Given the description of an element on the screen output the (x, y) to click on. 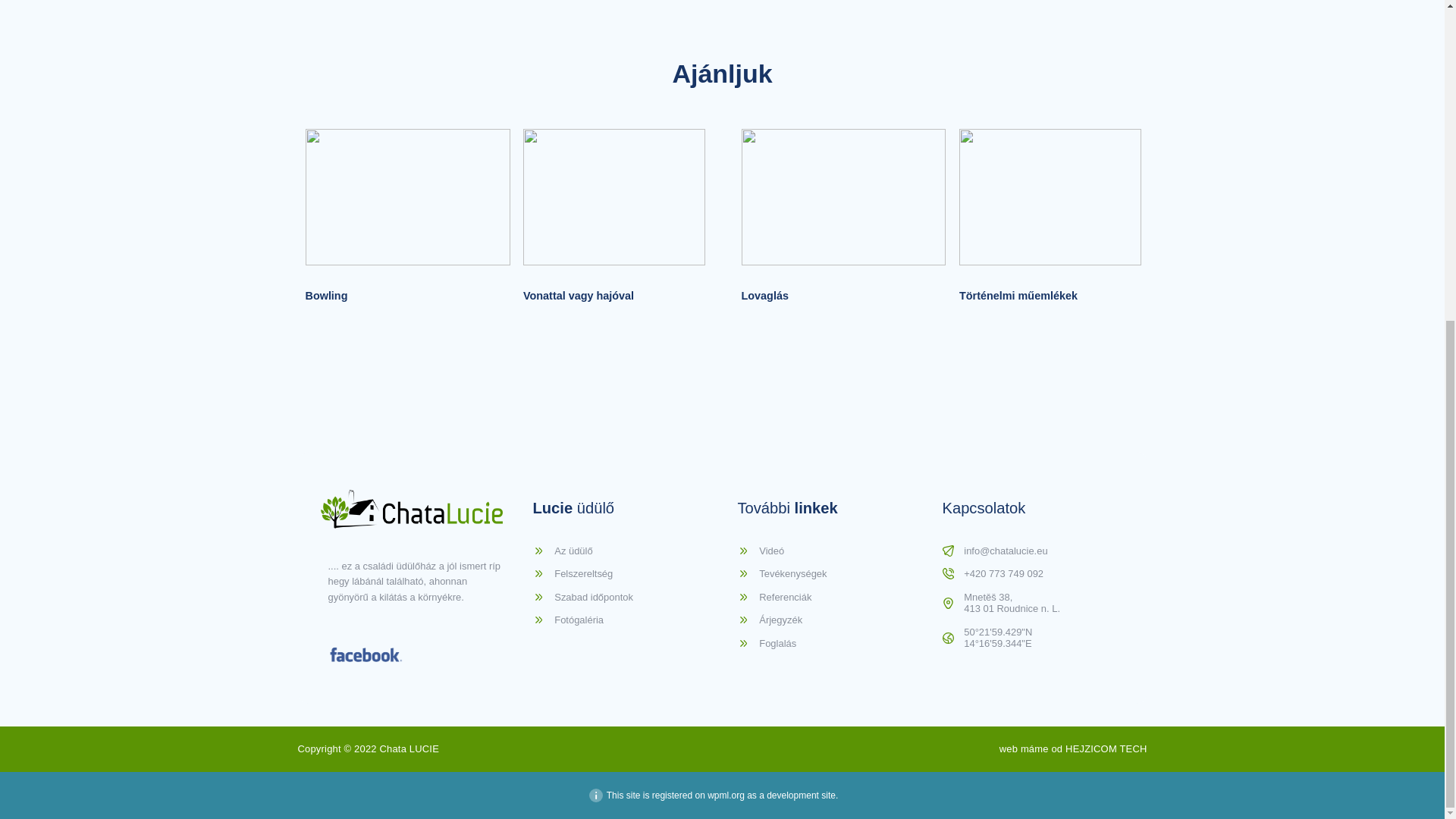
Bowling (325, 295)
